Given the description of an element on the screen output the (x, y) to click on. 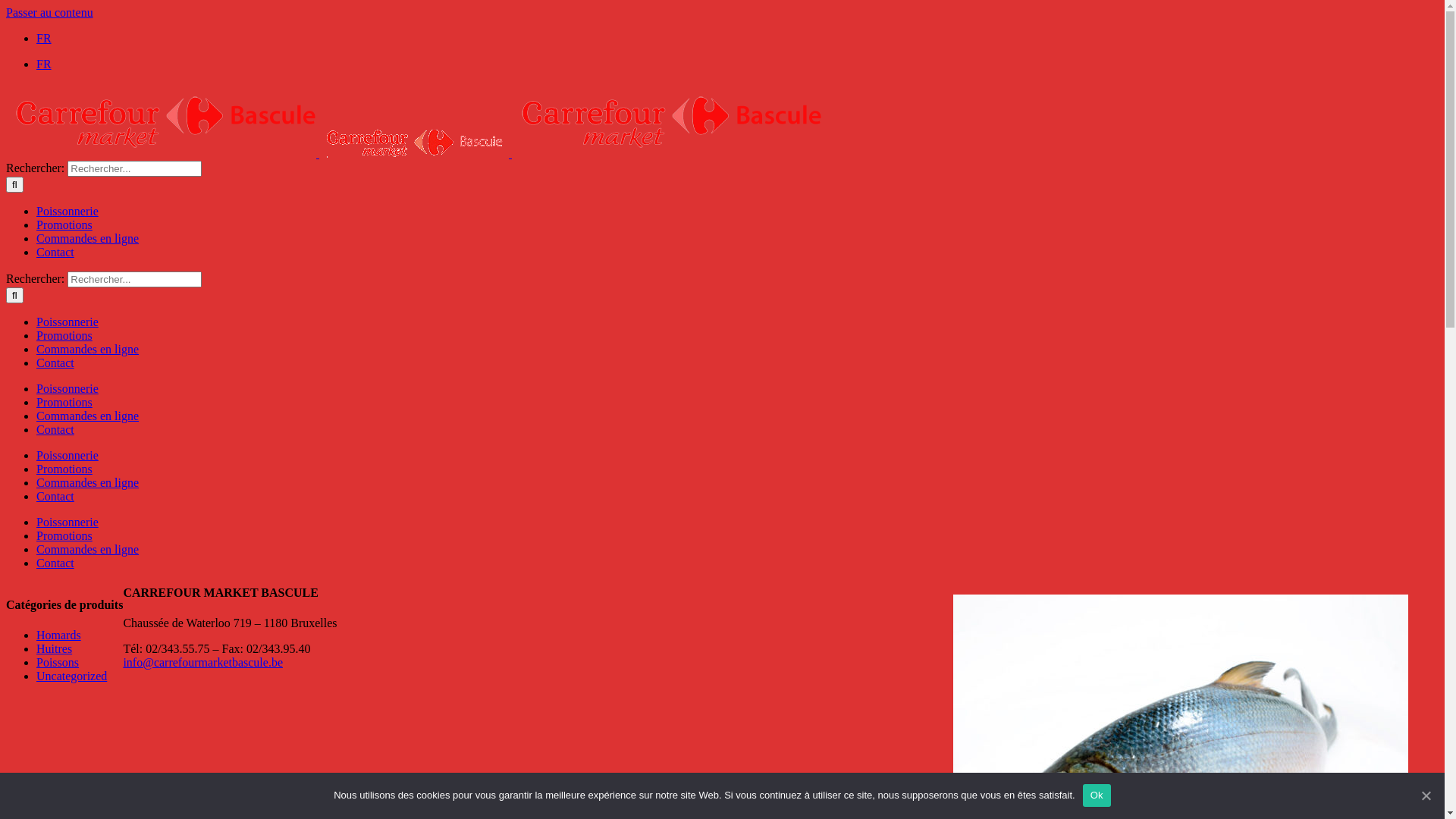
Contact Element type: text (55, 362)
Contact Element type: text (55, 562)
Commandes en ligne Element type: text (87, 348)
Commandes en ligne Element type: text (87, 482)
Promotions Element type: text (64, 401)
Poissonnerie Element type: text (67, 321)
Passer au contenu Element type: text (49, 12)
Poissonnerie Element type: text (67, 210)
Commandes en ligne Element type: text (87, 238)
Promotions Element type: text (64, 224)
Promotions Element type: text (64, 335)
info@carrefourmarketbascule.be Element type: text (202, 661)
Poissonnerie Element type: text (67, 388)
Poissonnerie Element type: text (67, 521)
Uncategorized Element type: text (71, 675)
Contact Element type: text (55, 495)
Promotions Element type: text (64, 468)
Contact Element type: text (55, 251)
Commandes en ligne Element type: text (87, 415)
Poissons Element type: text (57, 661)
Homards Element type: text (58, 634)
FR Element type: text (43, 37)
Huitres Element type: text (54, 648)
Contact Element type: text (55, 429)
Poissonnerie Element type: text (67, 454)
Commandes en ligne Element type: text (87, 548)
Promotions Element type: text (64, 535)
FR Element type: text (43, 63)
Ok Element type: text (1096, 795)
